Given the description of an element on the screen output the (x, y) to click on. 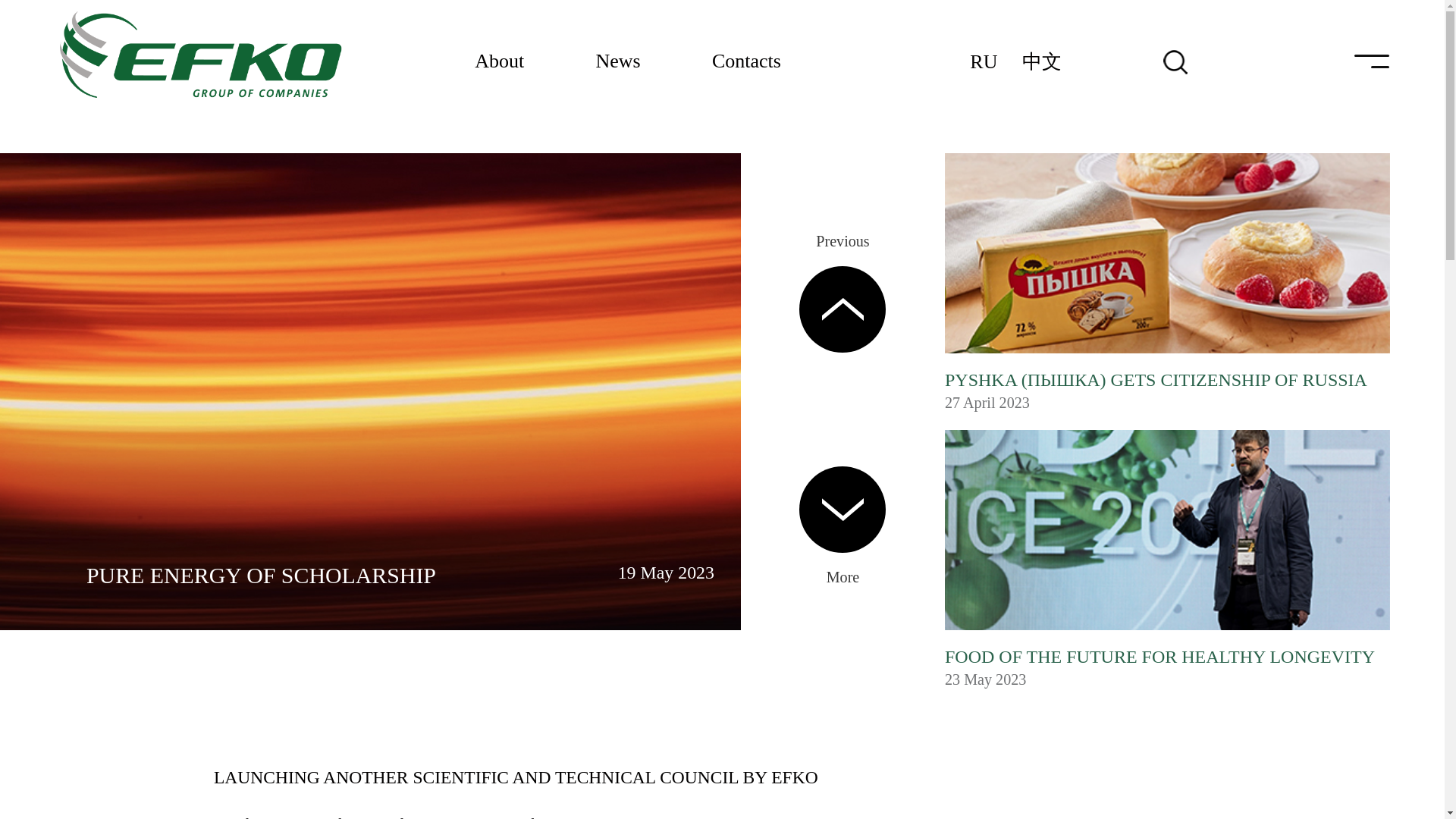
About (498, 61)
News (618, 61)
Previous (842, 241)
Contacts (746, 61)
